Given the description of an element on the screen output the (x, y) to click on. 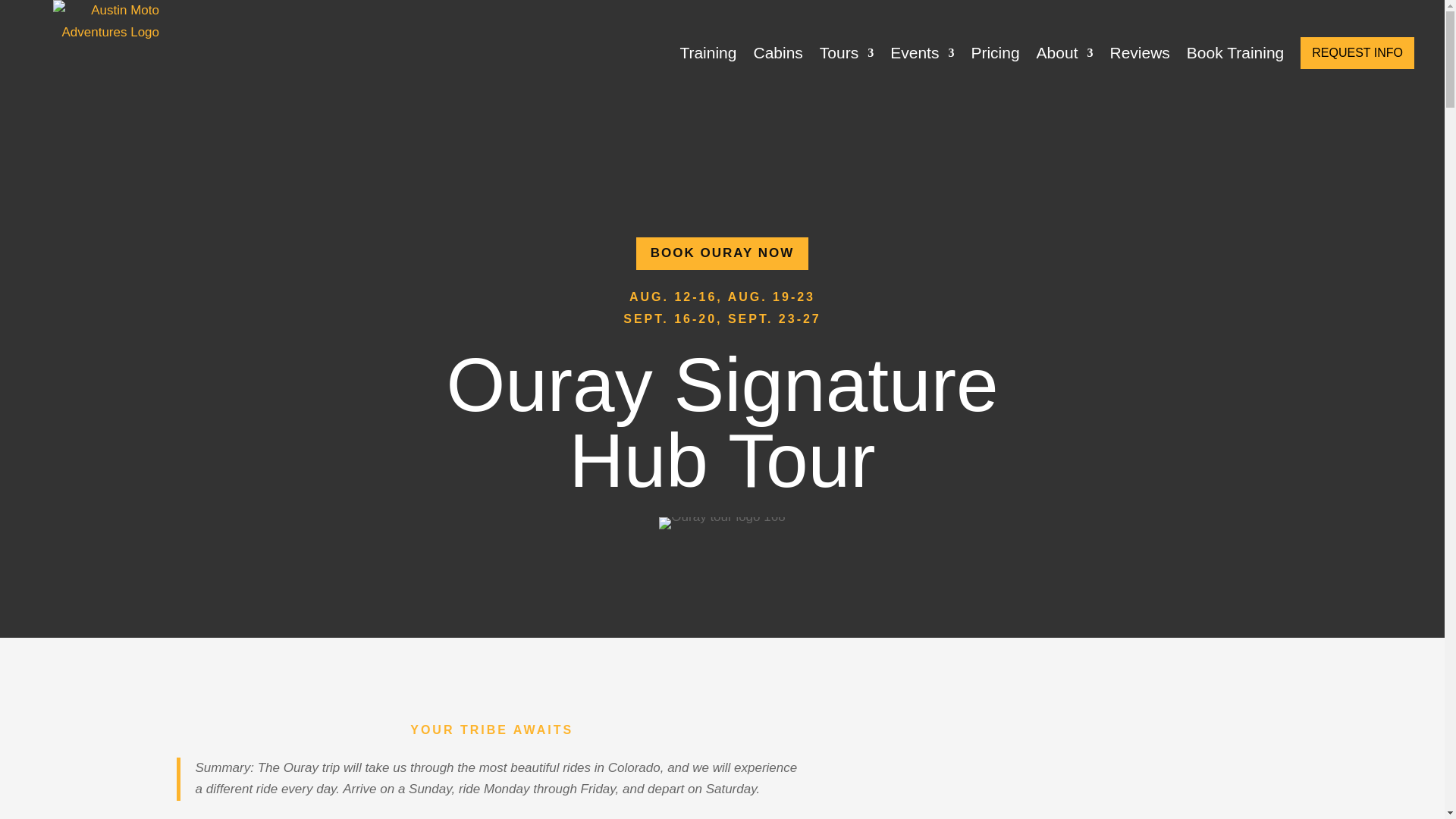
Pricing (995, 52)
Reviews (1139, 52)
Cabins (777, 52)
REQUEST INFO (1356, 51)
Tours (846, 52)
Events (921, 52)
BOOK OURAY NOW (722, 253)
About (1064, 52)
Ouray-tour-logo-168 (721, 522)
Training (707, 52)
Book Training (1235, 52)
